Given the description of an element on the screen output the (x, y) to click on. 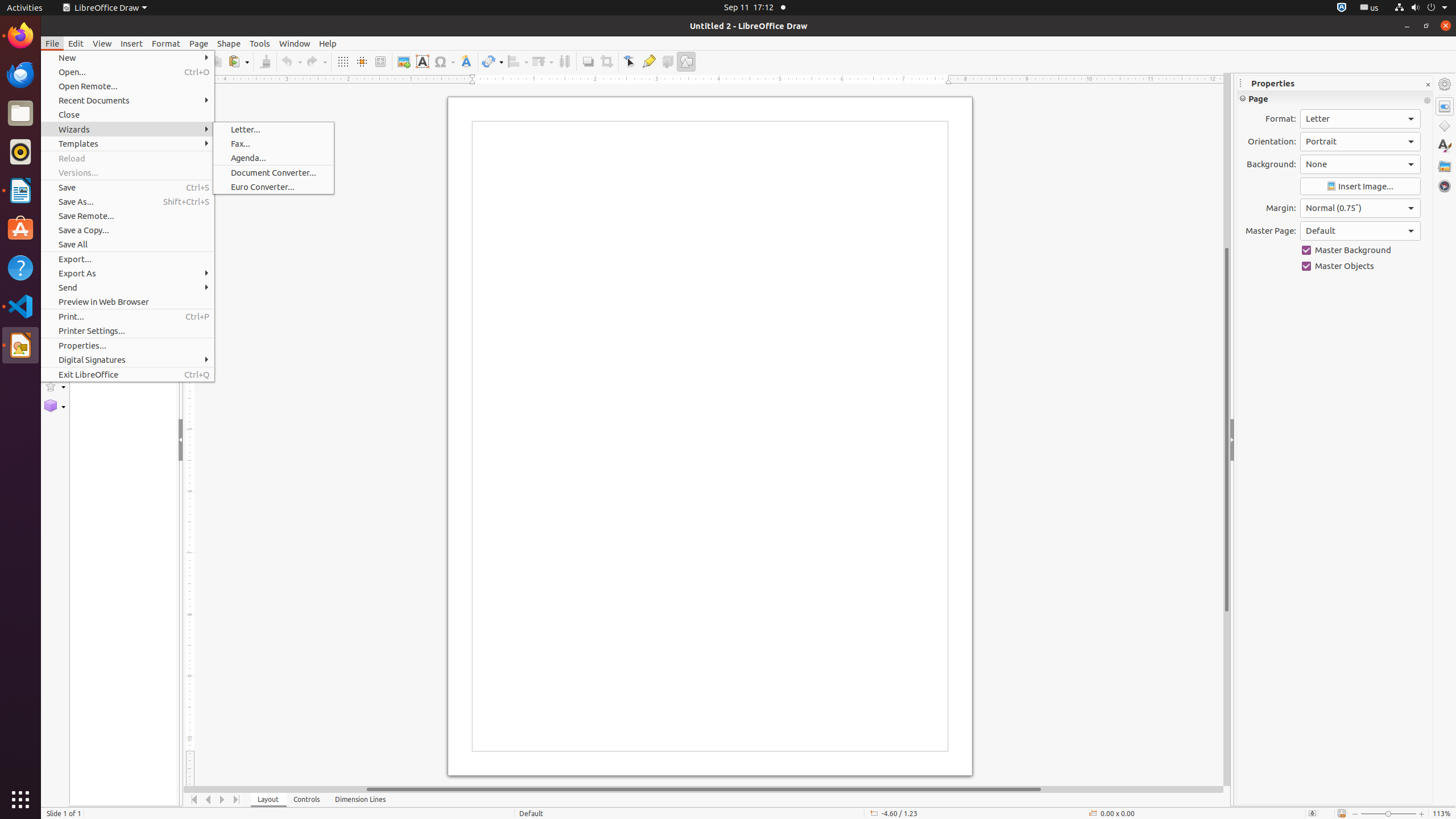
Send Element type: menu (127, 287)
Close Sidebar Deck Element type: push-button (1427, 84)
Print... Element type: menu-item (127, 316)
Toggle Extrusion Element type: push-button (667, 61)
Layout Element type: page-tab (268, 799)
